Given the description of an element on the screen output the (x, y) to click on. 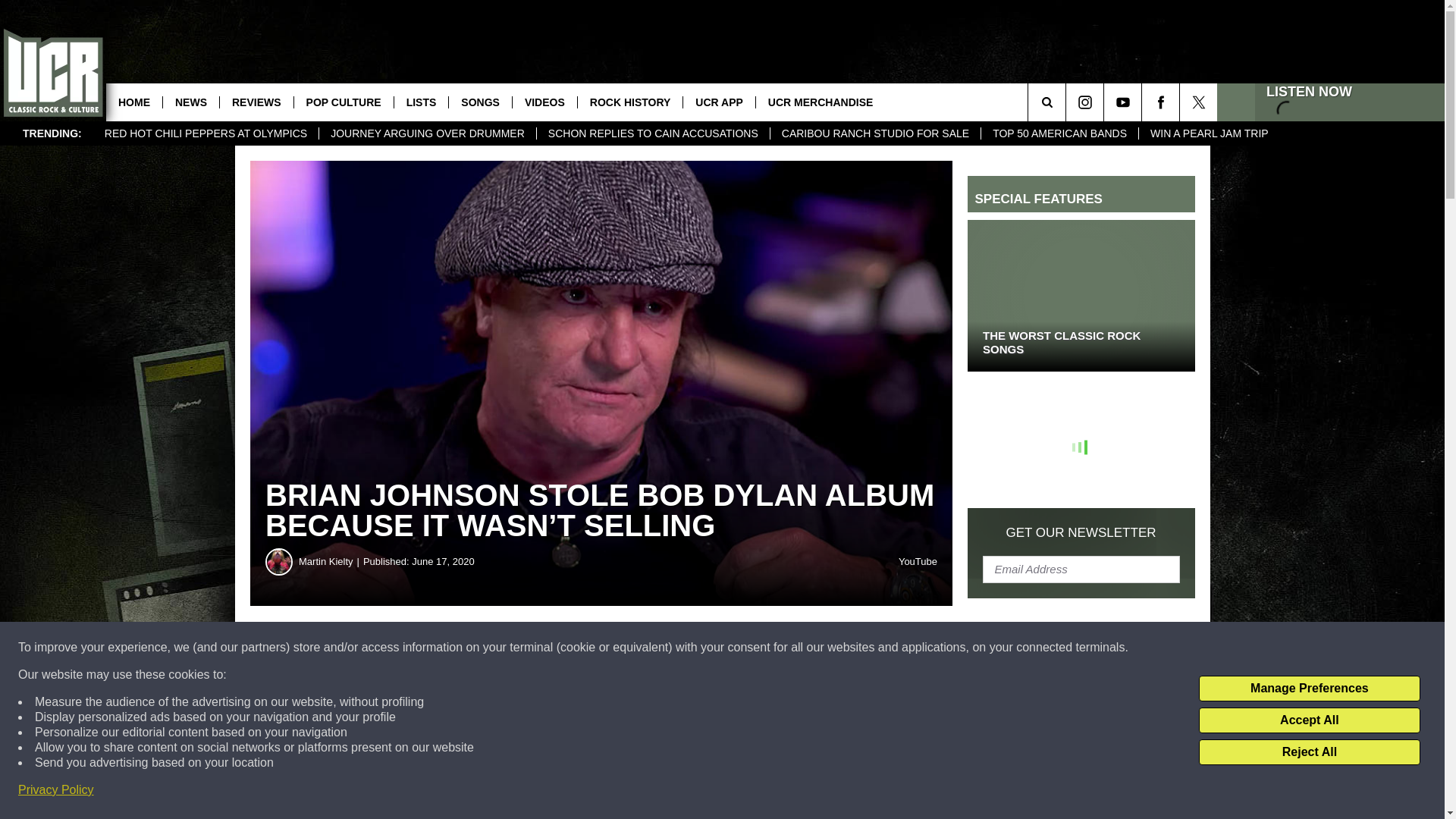
POP CULTURE (343, 102)
CARIBOU RANCH STUDIO FOR SALE (874, 133)
WIN A PEARL JAM TRIP (1208, 133)
SEARCH (1068, 102)
SCHON REPLIES TO CAIN ACCUSATIONS (652, 133)
TWEET (741, 647)
SEARCH (1068, 102)
Bob Dylan (794, 700)
Visit us on Twitter (1198, 102)
SHARE (460, 647)
